Given the description of an element on the screen output the (x, y) to click on. 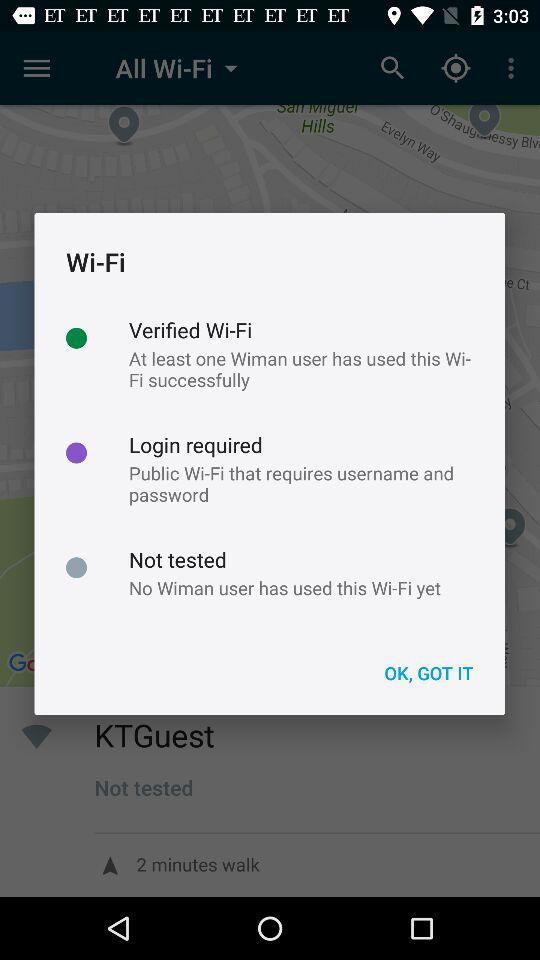
tap ok, got it item (428, 672)
